Given the description of an element on the screen output the (x, y) to click on. 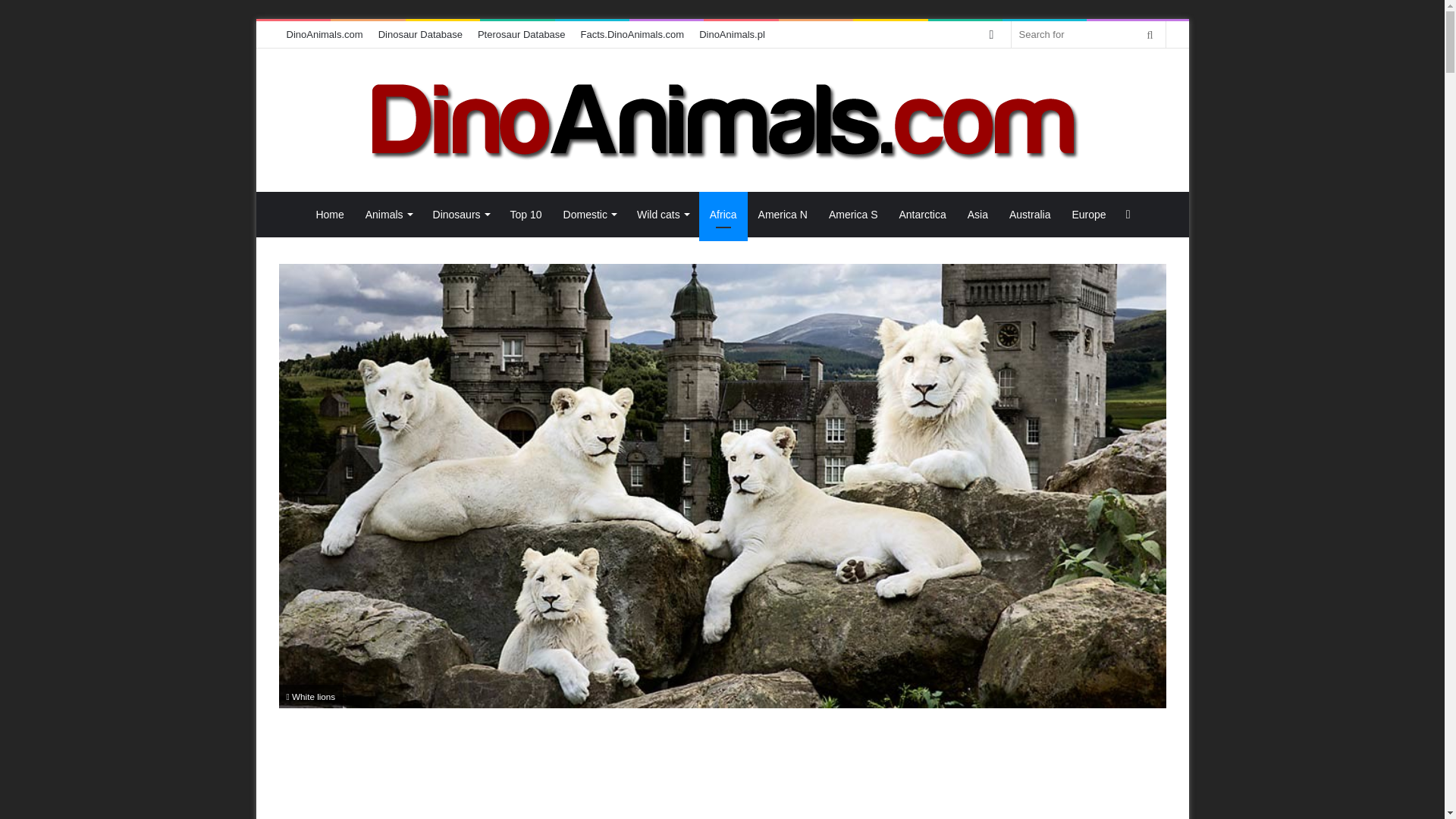
Home (328, 214)
Search for (1088, 34)
Pterosaur Database (521, 34)
Search for (1150, 34)
Dinosaur Database (420, 34)
DinoAnimals.pl (732, 34)
Animals (388, 214)
DinoAnimals.com (721, 119)
Pterosaur Database (521, 34)
Facts, records, curiosities, trivia about animals (633, 34)
